Given the description of an element on the screen output the (x, y) to click on. 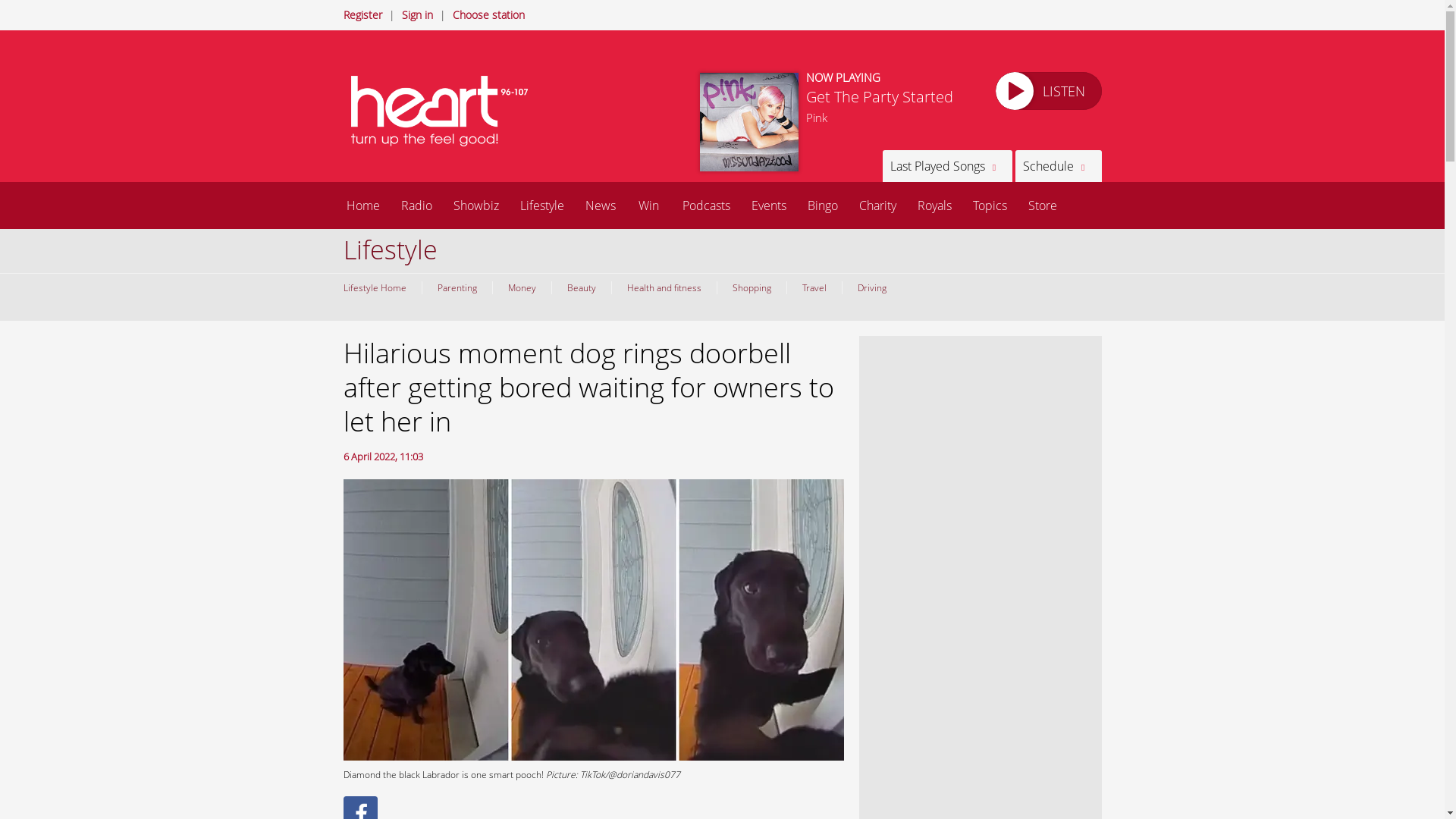
Travel (813, 287)
Lifestyle Home (377, 287)
Charity (876, 205)
Events (767, 205)
Store (1042, 205)
Last Played Songs (946, 165)
LISTEN (1047, 90)
Driving (871, 287)
Bingo (821, 205)
Beauty (580, 287)
